Given the description of an element on the screen output the (x, y) to click on. 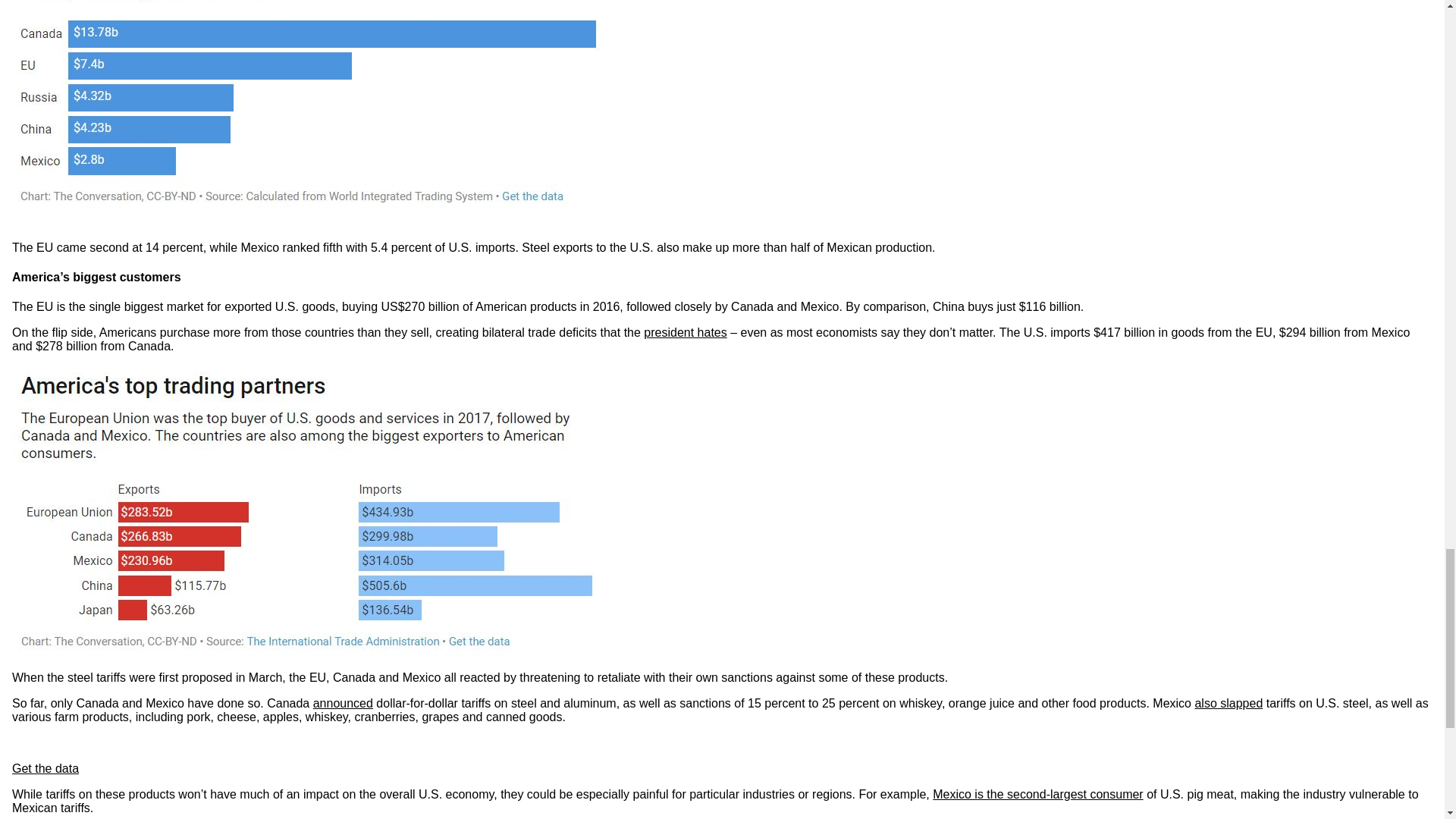
also slapped (1227, 703)
announced (342, 703)
Mexico is the second-largest consumer (1037, 793)
Get the data (44, 768)
president hates (684, 332)
